Given the description of an element on the screen output the (x, y) to click on. 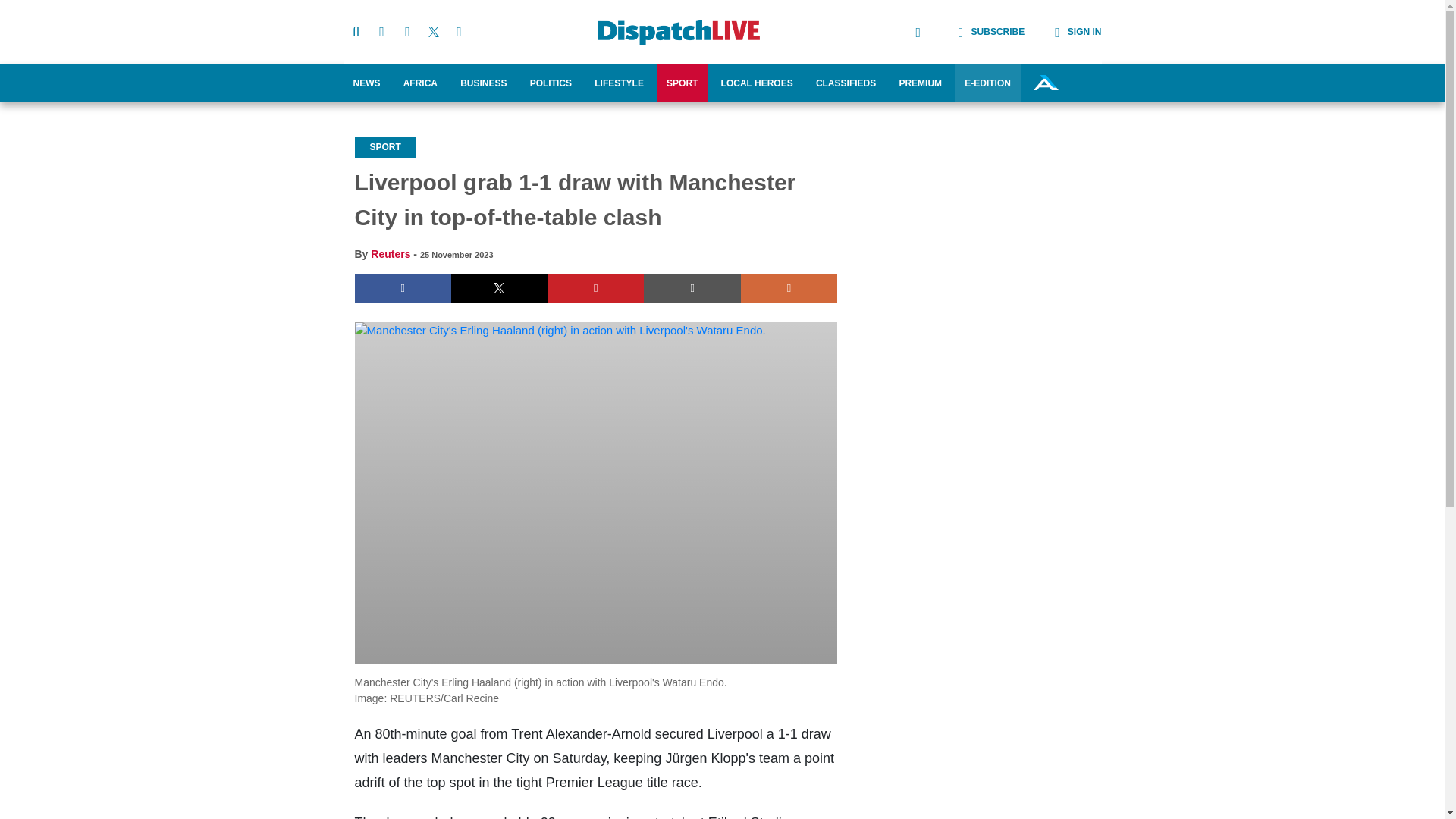
AFRICA (419, 83)
SUBSCRIBE (976, 32)
BUSINESS (482, 83)
LIFESTYLE (619, 83)
NEWS (366, 83)
SIGN IN (1062, 32)
POLITICS (549, 83)
SPORT (681, 83)
LOCAL HEROES (757, 83)
E-EDITION (987, 83)
